Given the description of an element on the screen output the (x, y) to click on. 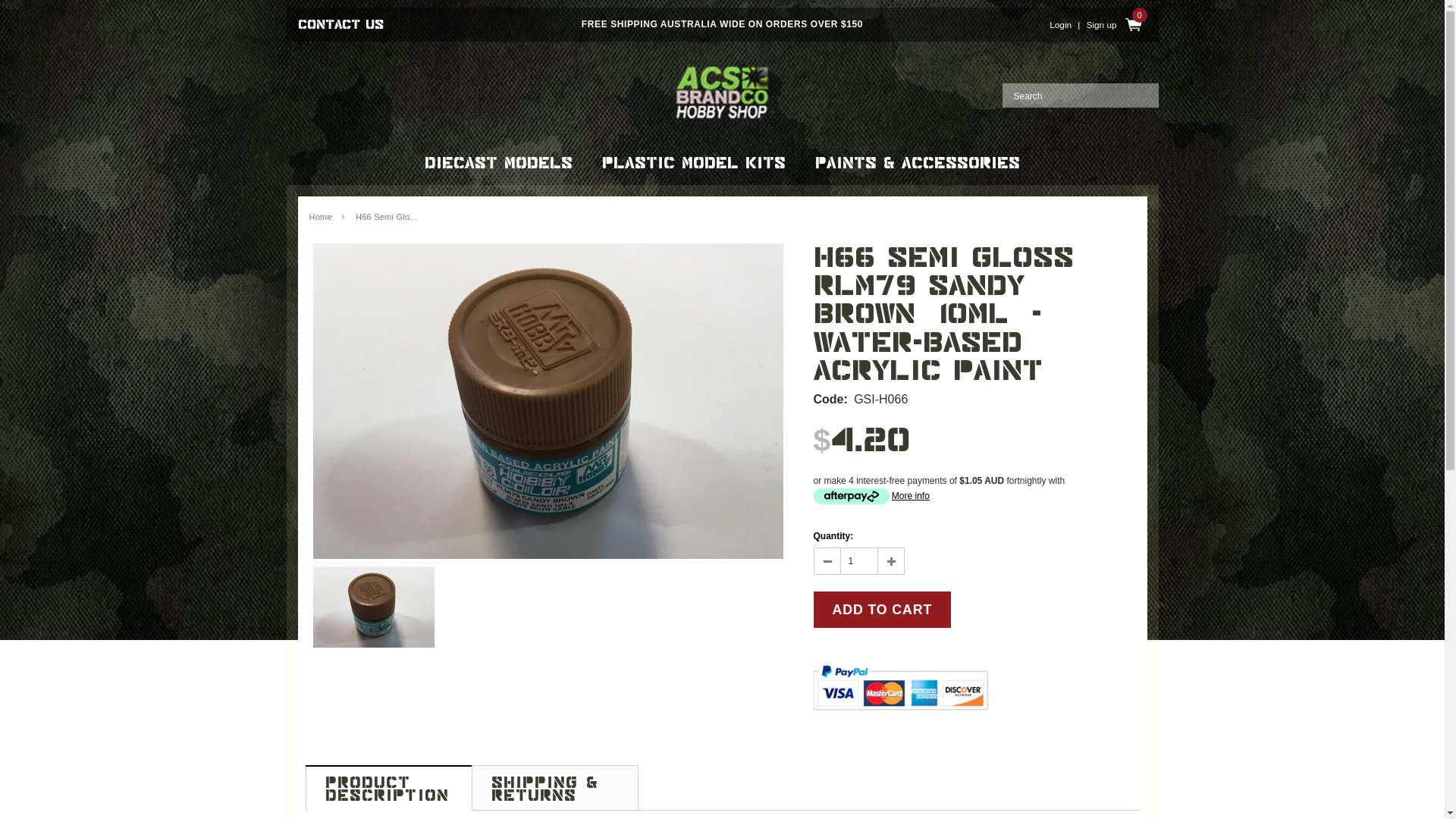
Sign up Element type: text (1101, 24)
PRODUCT DESCRIPTION Element type: text (387, 788)
Add to Cart Element type: text (881, 609)
SHIPPING & RETURNS Element type: text (554, 787)
PAINTS & ACCESSORIES Element type: text (917, 162)
Home Element type: text (320, 216)
SHOPPING CART
0 Element type: text (1133, 24)
CONTACT US Element type: text (338, 23)
Login Element type: text (1060, 24)
More info Element type: text (870, 496)
DIECAST MODELS Element type: text (498, 162)
PLASTIC MODEL KITS Element type: text (693, 162)
